Given the description of an element on the screen output the (x, y) to click on. 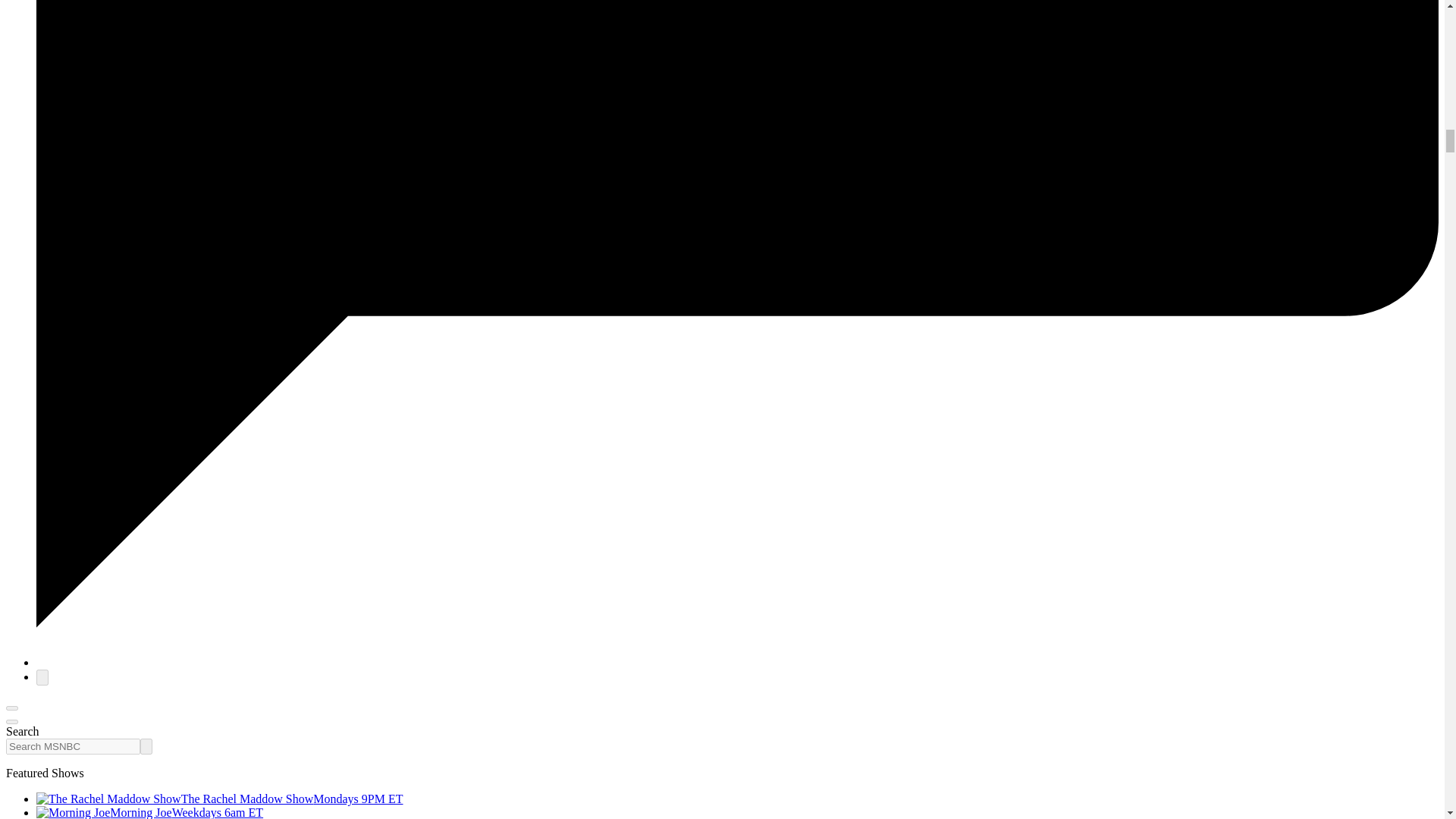
The Rachel Maddow ShowMondays 9PM ET (219, 798)
Morning JoeWeekdays 6am ET (149, 812)
